Given the description of an element on the screen output the (x, y) to click on. 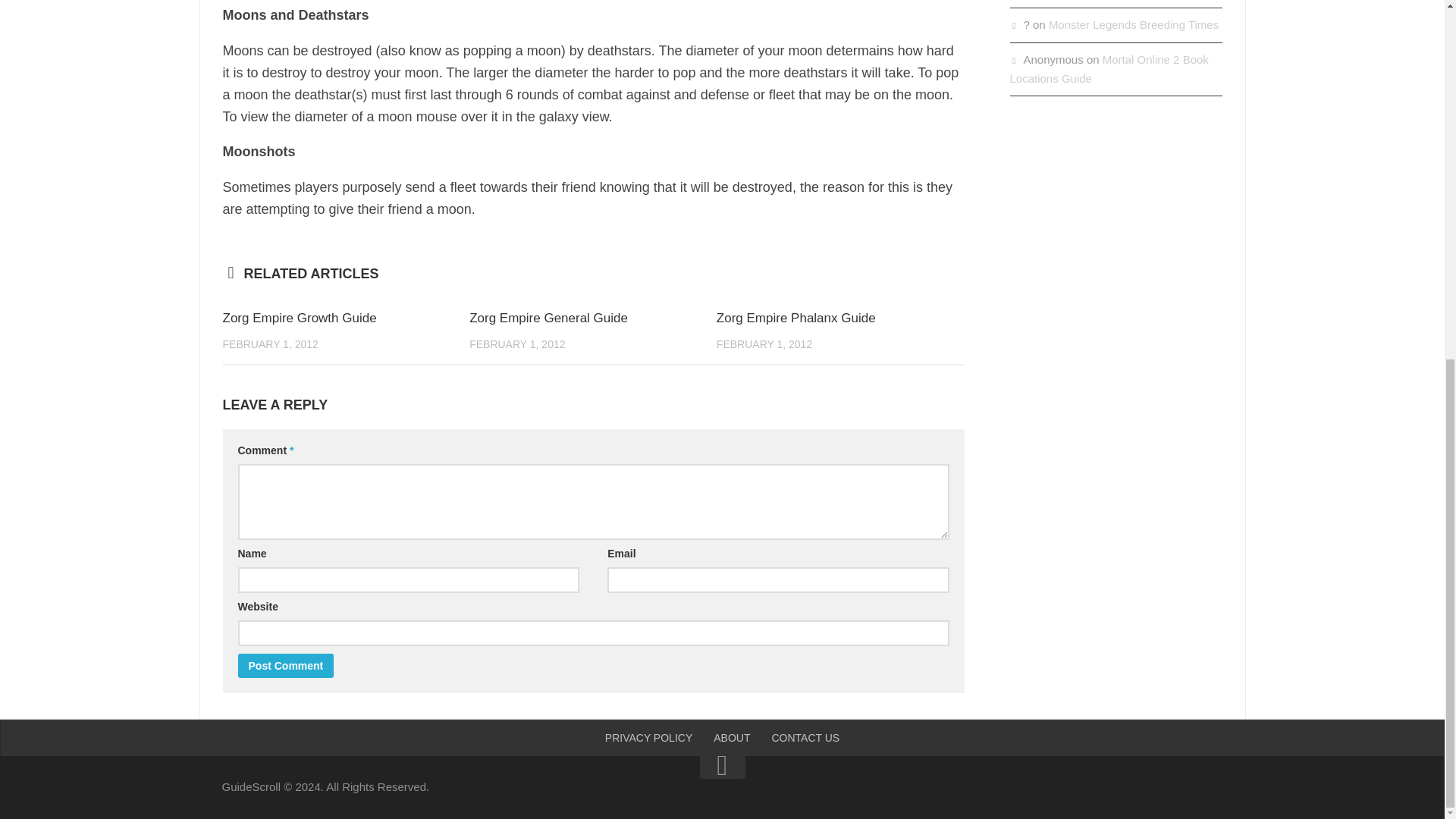
Post Comment (286, 665)
Zorg Empire General Guide (547, 318)
Zorg Empire Phalanx Guide (796, 318)
ABOUT (731, 737)
PRIVACY POLICY (648, 737)
Post Comment (286, 665)
CONTACT US (805, 737)
Mortal Online 2 Book Locations Guide (1109, 69)
Monster Legends Breeding Times (1133, 24)
Zorg Empire Growth Guide (299, 318)
